Given the description of an element on the screen output the (x, y) to click on. 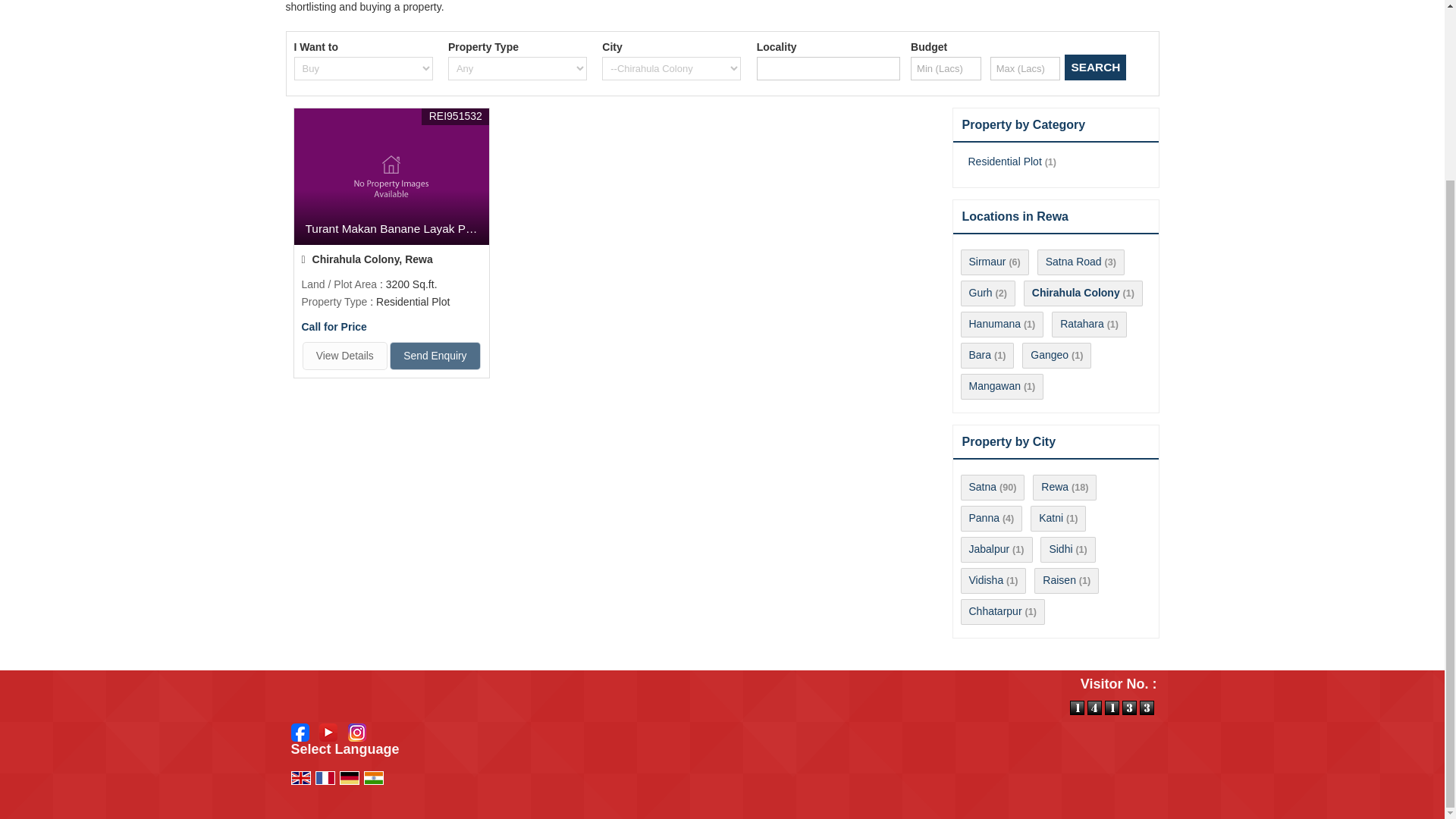
SEARCH (1094, 67)
